Given the description of an element on the screen output the (x, y) to click on. 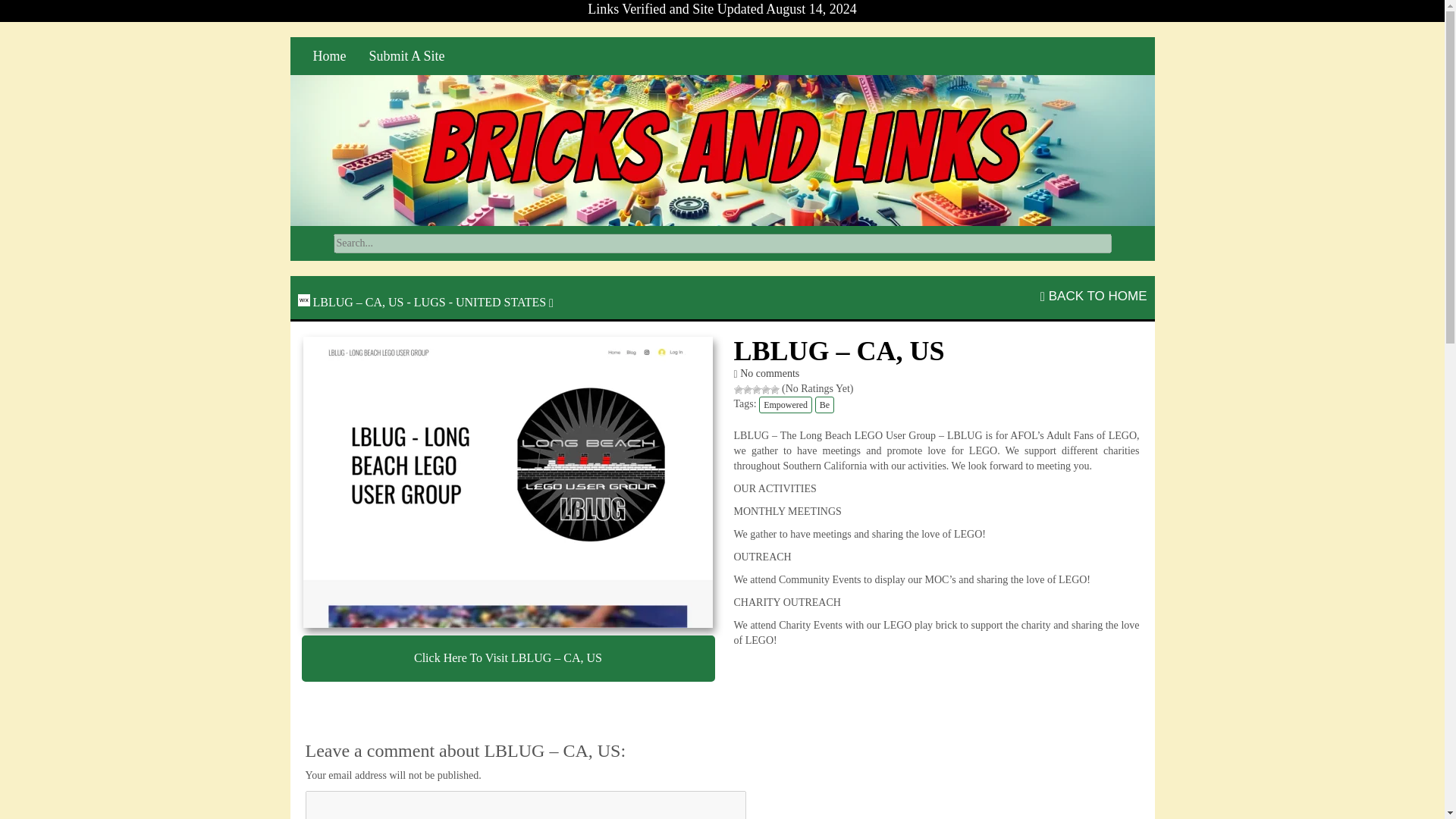
Submit A Site (407, 55)
4 Stars (765, 388)
5 Stars (774, 388)
BACK TO HOME (1094, 296)
No comments (769, 373)
Empowered (785, 404)
3 Stars (756, 388)
1 Star (737, 388)
Home (329, 55)
Be (824, 404)
